Given the description of an element on the screen output the (x, y) to click on. 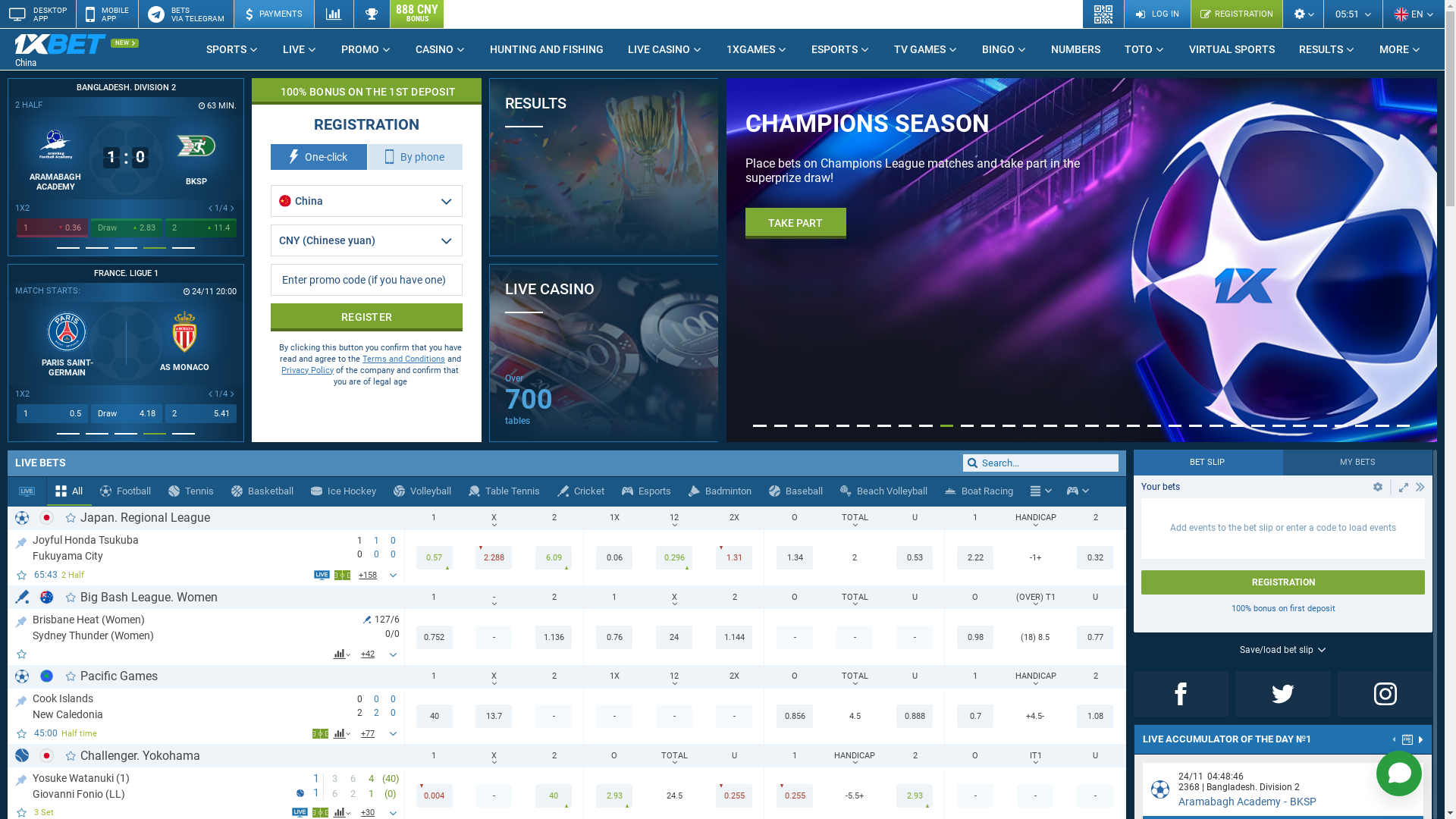
MOBILE
APP Element type: text (106, 14)
Ice Hockey Element type: text (343, 490)
Brisbane Heat (Women)
Sydney Thunder (Women) Element type: text (197, 625)
Menu Element type: hover (1035, 490)
HUNTING AND FISHING Element type: text (546, 48)
Japan. Regional League Element type: text (145, 517)
VIRTUAL SPORTS Element type: text (1231, 48)
RESULTS Element type: text (603, 167)
Table Tennis Element type: text (504, 490)
100% bonus on first deposit Element type: text (1283, 608)
LIVE CASINO Element type: text (664, 48)
1
0.751 Element type: text (51, 413)
TOP Element type: hover (20, 618)
MORE Element type: text (1400, 48)
Previous accumulator Element type: hover (1394, 740)
Collapse block/Expand block Element type: hover (1419, 486)
LIVE Element type: text (299, 48)
Boat Racing Element type: text (979, 490)
+158 Element type: text (367, 574)
Add event to favorites Element type: hover (22, 733)
Football Element type: text (125, 490)
Add event to favorites Element type: hover (22, 653)
Esports Element type: text (646, 490)
Results Element type: hover (371, 14)
Beach Volleyball Element type: text (883, 490)
Australia Element type: hover (46, 596)
Collapse/Expand Element type: hover (1403, 486)
One-click Element type: text (318, 156)
Terms and Conditions Element type: text (403, 359)
Draw
3.45 Element type: text (126, 413)
DESKTOP
APP Element type: text (37, 14)
Privacy Policy Element type: text (307, 370)
PROMO Element type: text (366, 48)
2
3.55 Element type: text (200, 413)
Basketball Element type: text (262, 490)
BINGO Element type: text (1003, 48)
1
0.552 Element type: text (51, 227)
Pacific Games Element type: text (118, 675)
100%
BONUS ON THE 1ST DEPOSIT Element type: text (366, 91)
Sports menu Element type: hover (1040, 490)
1XGAMES Element type: text (756, 48)
Open Element type: hover (1377, 486)
Save/load bet slip Element type: text (1282, 649)
By phone Element type: text (415, 156)
ENGLAND. PREMIER LEAGUE Element type: text (125, 273)
CASINO Element type: text (440, 48)
China Element type: text (71, 49)
Show video stream Element type: hover (321, 575)
NUMBERS Element type: text (1075, 48)
TOP Element type: hover (20, 777)
TOP Element type: hover (20, 540)
All Element type: text (69, 490)
Aramabagh AcademyBKSP Element type: text (1247, 801)
LIVE CASINO
Over
700
tables Element type: text (603, 352)
Show 1xZone Element type: hover (320, 812)
Add event to favorites Element type: hover (22, 812)
Tennis Element type: text (191, 490)
Promo code Element type: hover (366, 279)
Joyful Honda Tsukuba
Fukuyama City Element type: text (187, 547)
Badminton Element type: text (720, 490)
Japan Element type: hover (46, 517)
REGISTRATION Element type: text (1236, 14)
Esports Element type: hover (1072, 490)
QR code login Element type: hover (1103, 14)
NEW Element type: text (124, 42)
BETS
VIA TELEGRAM Element type: text (185, 14)
Esports menu Element type: hover (1077, 490)
+77 Element type: text (367, 732)
CASINO
Over
15000
games Element type: text (718, 211)
REGISTER Element type: text (792, 208)
TOP Element type: hover (20, 698)
Challenger. Yokohama Element type: text (140, 755)
Big Bash League. Women Element type: text (148, 596)
Show 1xZone Element type: hover (342, 575)
888 CNY
BONUS Element type: text (416, 14)
Volleyball Element type: text (422, 490)
Cricket Element type: text (581, 490)
Yosuke Watanuki (1)
Giovanni Fonio (LL) Element type: text (164, 784)
SPORTS Element type: text (232, 48)
World Element type: hover (46, 675)
PAYMENTS Element type: text (273, 14)
Show streaming games Element type: hover (26, 491)
+42 Element type: text (367, 654)
MY BETS Element type: text (1357, 462)
1xBet Betting Company Element type: hover (60, 43)
GAMES
Over
100
games Element type: text (718, 397)
TOTO Element type: text (1144, 48)
JAPAN. REGIONAL LEAGUE Element type: text (125, 87)
ODI. QUADRANGULAR SERIES U19 Element type: text (360, 87)
2
6 Element type: text (200, 227)
Add event to favorites Element type: hover (22, 575)
Japan Element type: hover (46, 755)
TV GAMES Element type: text (925, 48)
Cook Islands
New Caledonia Element type: text (187, 705)
Next accumulator Element type: hover (1420, 739)
BET SLIP Element type: text (1208, 462)
Show 1xZone Element type: hover (320, 733)
ESPORTS Element type: text (840, 48)
Settings Element type: hover (1302, 14)
Show video stream Element type: hover (299, 812)
RESULTS Element type: text (1326, 48)
Baseball Element type: text (795, 490)
Statistics Element type: hover (333, 14)
Draw
2.395 Element type: text (126, 227)
REGISTRATION Element type: text (1282, 582)
SPAIN. LA LIGA Element type: text (360, 273)
